Given the description of an element on the screen output the (x, y) to click on. 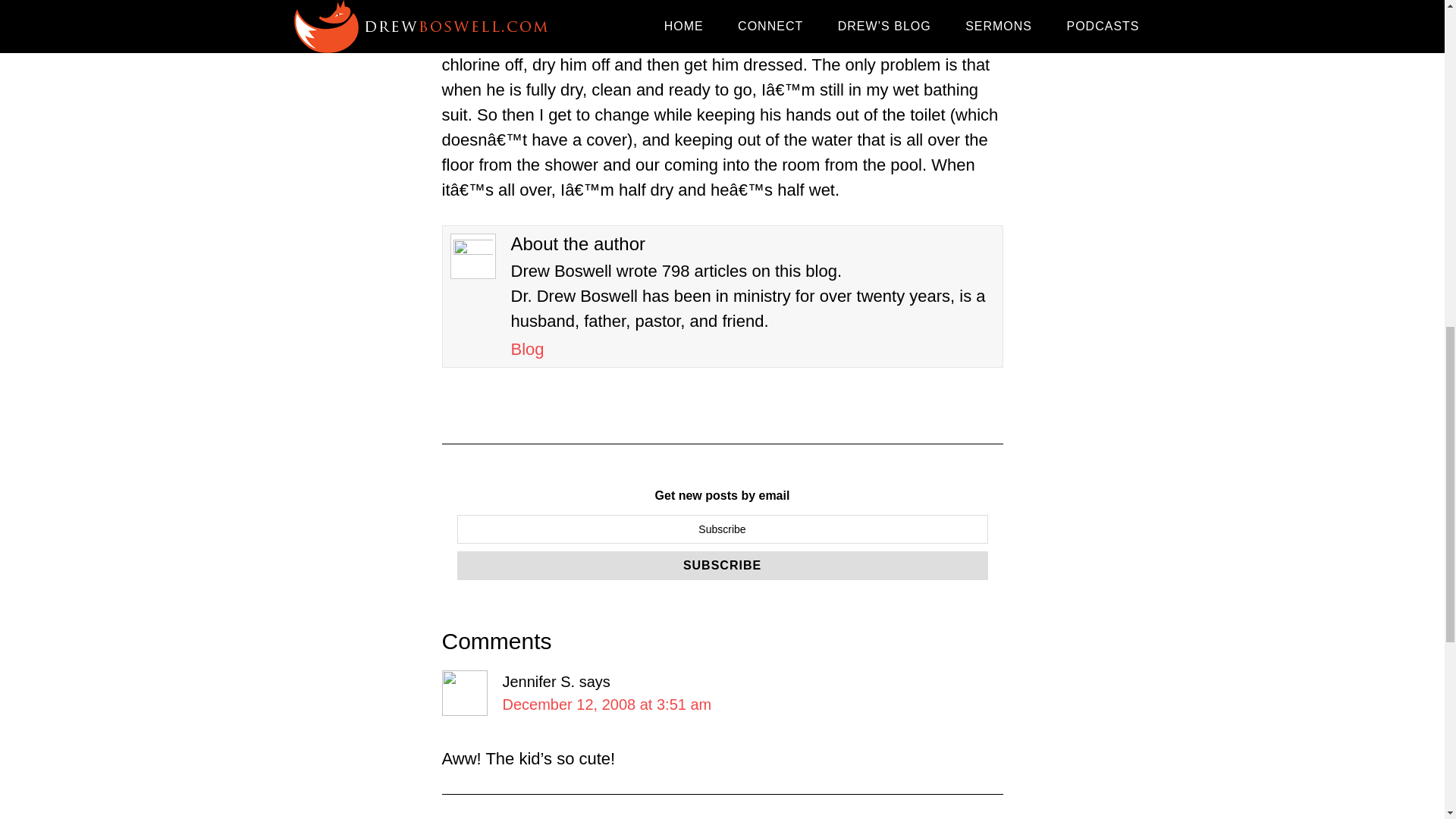
Subscribe (722, 565)
Subscribe (722, 565)
Blog (527, 348)
December 12, 2008 at 3:51 am (606, 704)
